Given the description of an element on the screen output the (x, y) to click on. 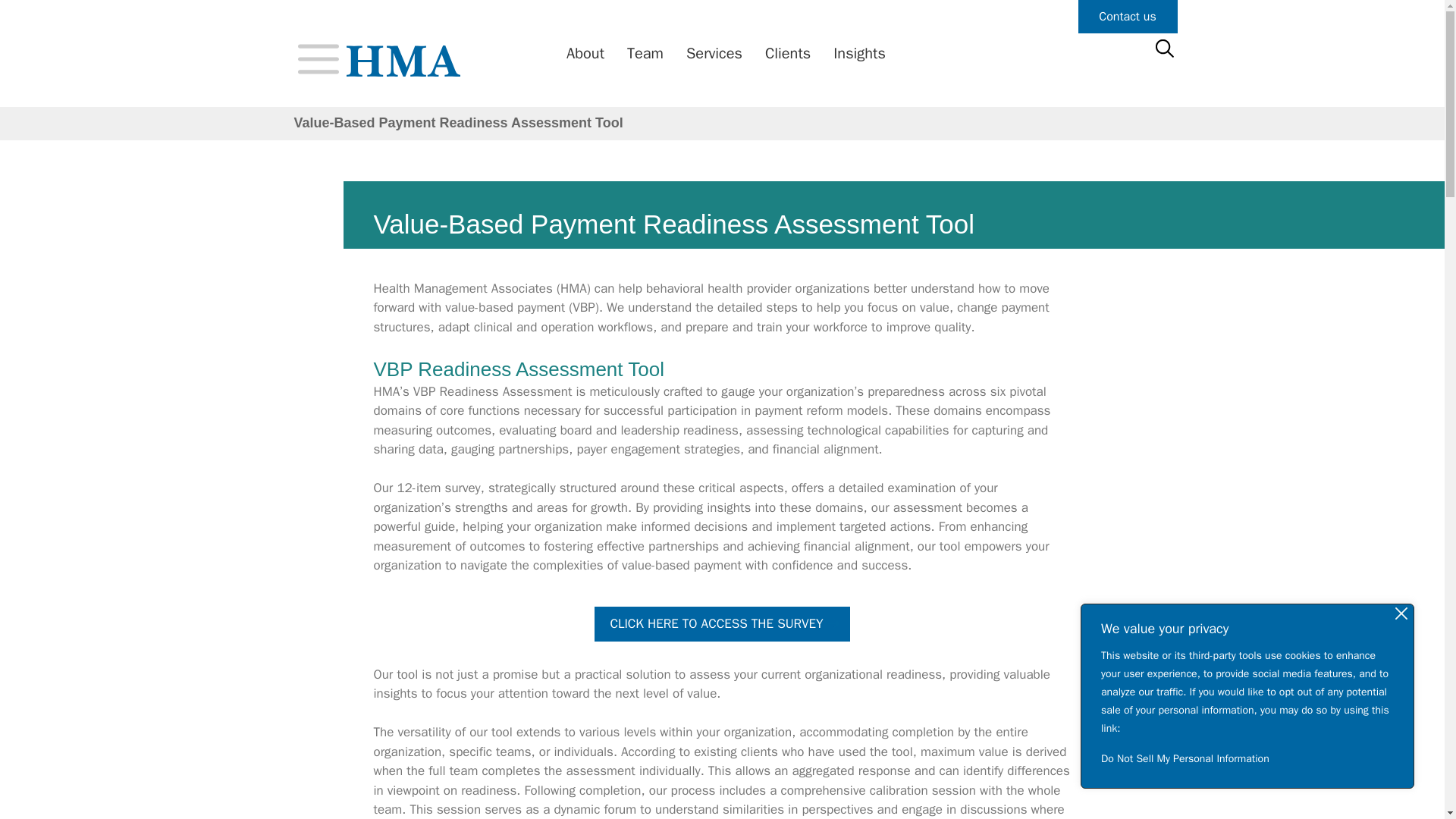
Search (35, 18)
Search for: (1163, 48)
Contact us (1127, 16)
Menu (317, 58)
Do Not Sell My Personal Information (1246, 759)
Team (641, 53)
Services (710, 53)
About (581, 53)
